Given the description of an element on the screen output the (x, y) to click on. 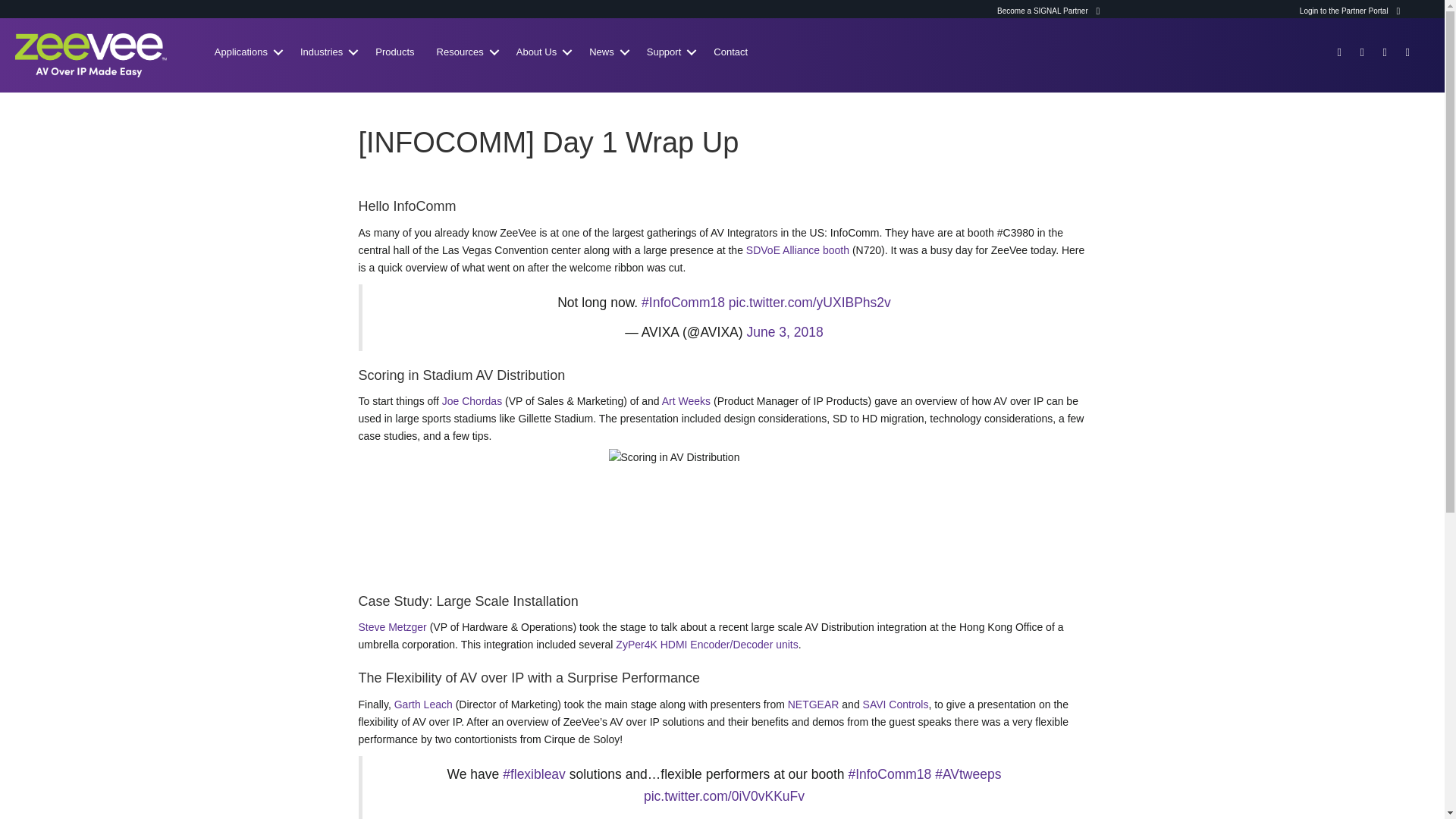
Products (395, 51)
Login to the Partner Portal (1349, 10)
News (606, 51)
Become a SIGNAL Partner (1048, 10)
Applications (245, 51)
Industries (326, 51)
About Us (541, 51)
Resources (465, 51)
